Given the description of an element on the screen output the (x, y) to click on. 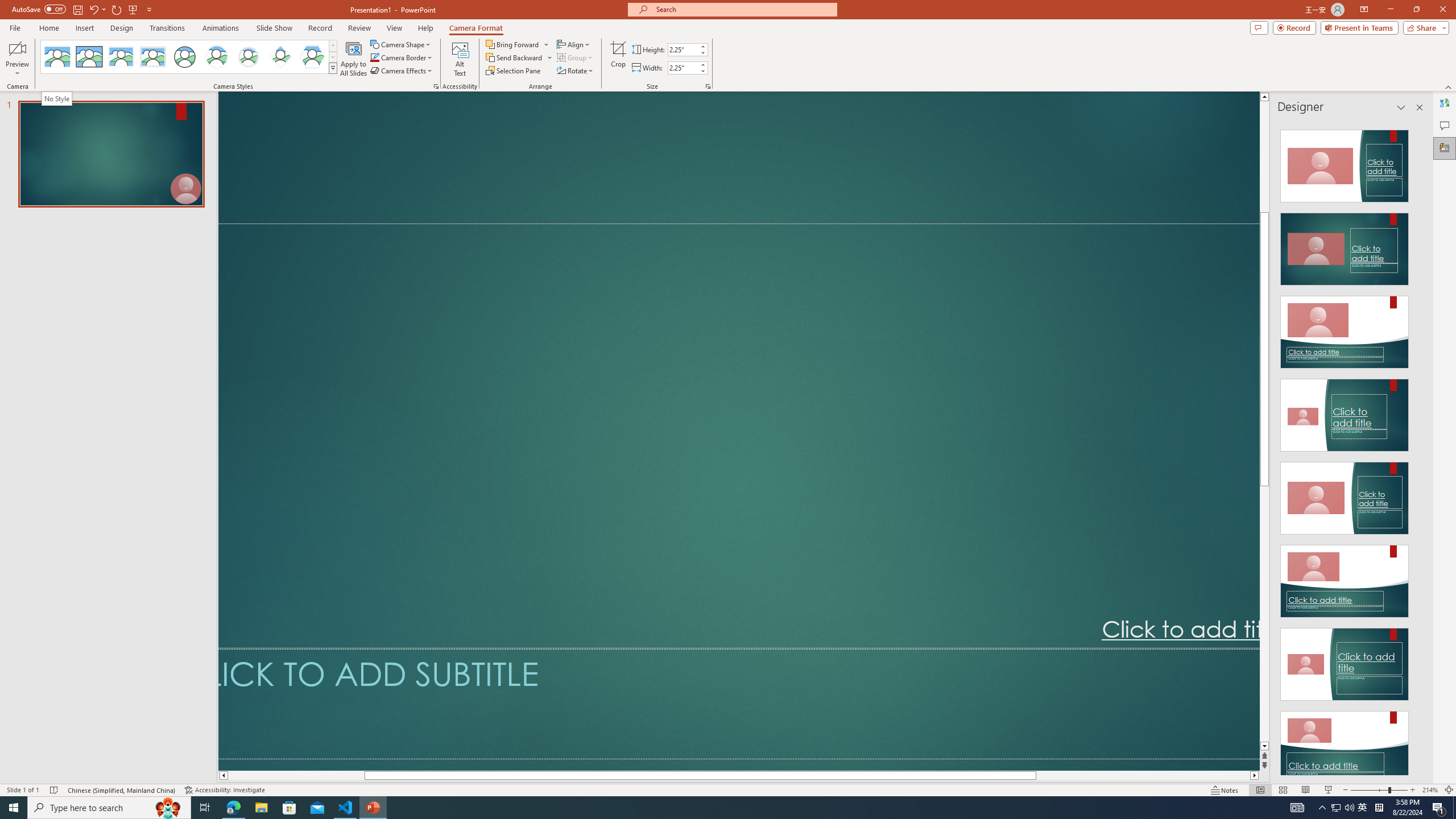
AutomationID: CameoStylesGallery (189, 56)
Simple Frame Rectangle (88, 56)
Camera Format (475, 28)
Camera Border Blue, Accent 1 (374, 56)
